Given the description of an element on the screen output the (x, y) to click on. 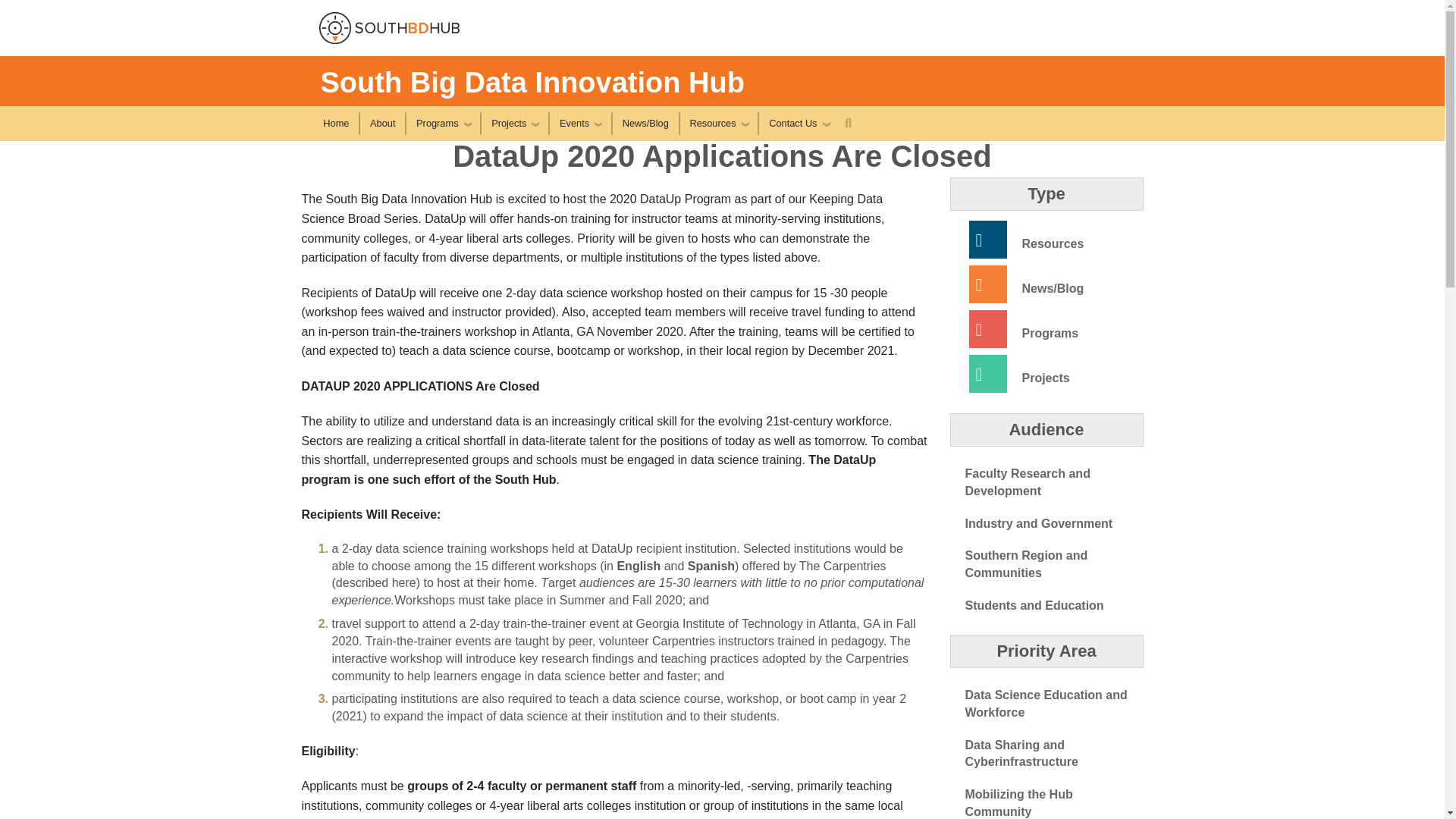
South Big Data Hub (406, 28)
Projects (515, 122)
About (381, 122)
Resources (718, 122)
Programs (443, 122)
search (847, 123)
South Big Data Innovation Hub (532, 82)
About (381, 122)
Contact Us (798, 122)
Events (580, 122)
Home (336, 122)
